Given the description of an element on the screen output the (x, y) to click on. 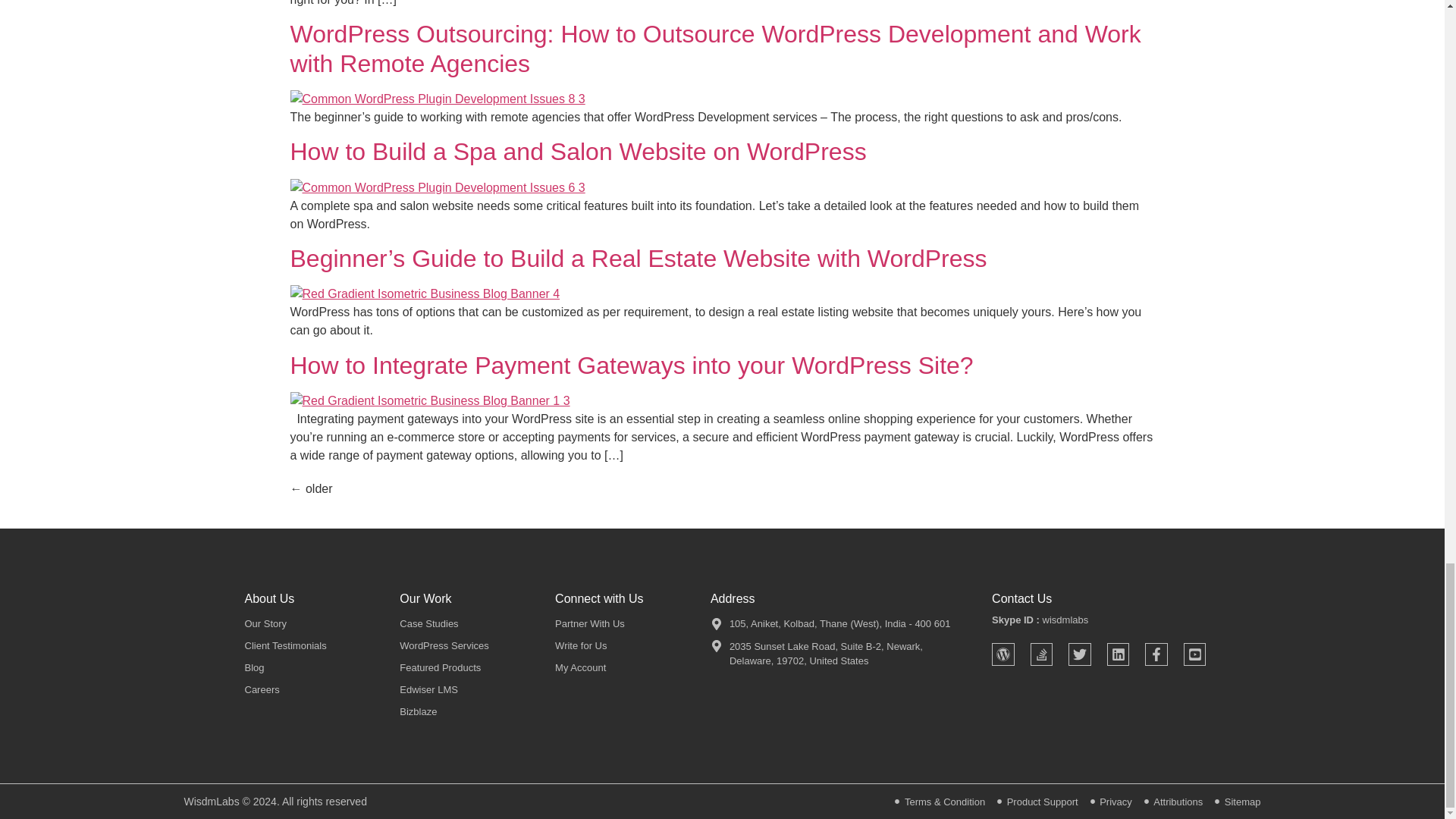
Red Gradient Isometric Business Blog Banner 1 3 (429, 401)
Common WordPress Plugin Development Issues 8 3 (437, 99)
Red Gradient Isometric Business Blog Banner 4 (424, 294)
Common WordPress Plugin Development Issues 6 3 (437, 188)
